Given the description of an element on the screen output the (x, y) to click on. 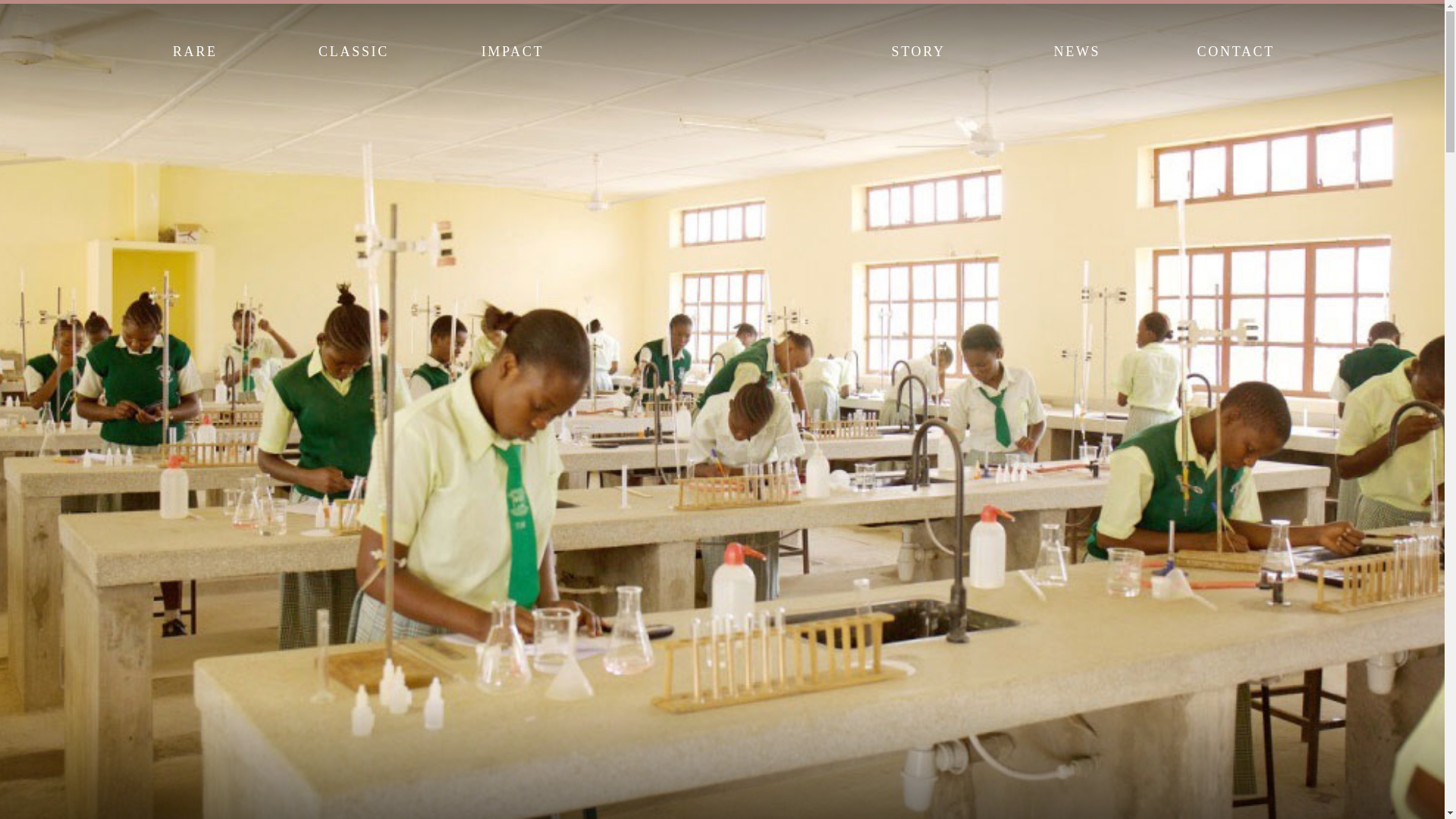
CONTACT (1235, 50)
CLASSIC (353, 50)
HOME (714, 51)
RARE (194, 50)
Toggle search (1320, 49)
IMPACT (511, 50)
STORY (917, 50)
NEWS (1076, 50)
